Given the description of an element on the screen output the (x, y) to click on. 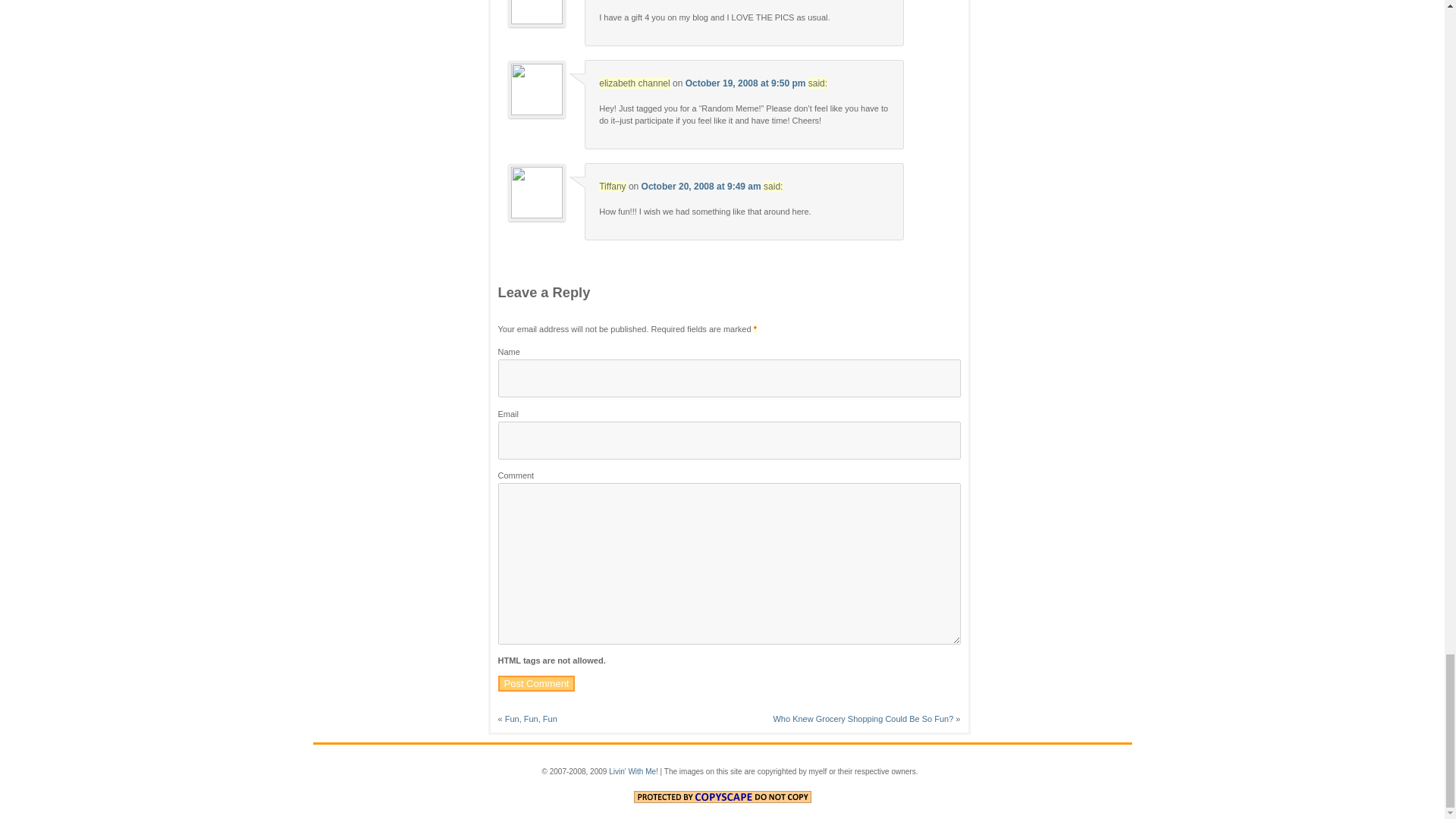
Post Comment (536, 683)
